Given the description of an element on the screen output the (x, y) to click on. 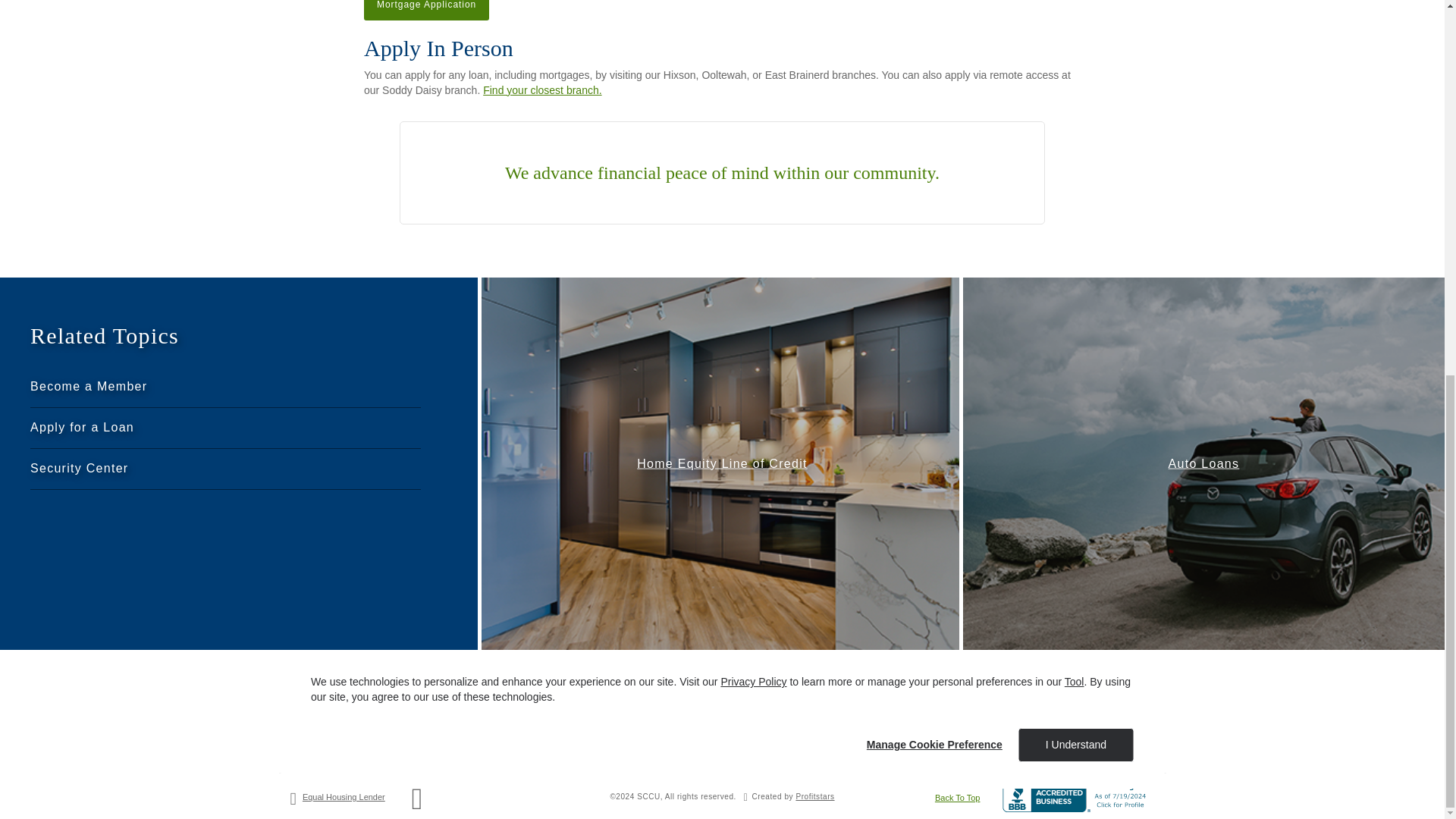
National Credit Union Administration (417, 805)
Created by Profitstars (814, 796)
Equal Housing Lender (343, 796)
Scanned by Banno Monitor (1120, 684)
Monitor Scan Details (1017, 692)
